Given the description of an element on the screen output the (x, y) to click on. 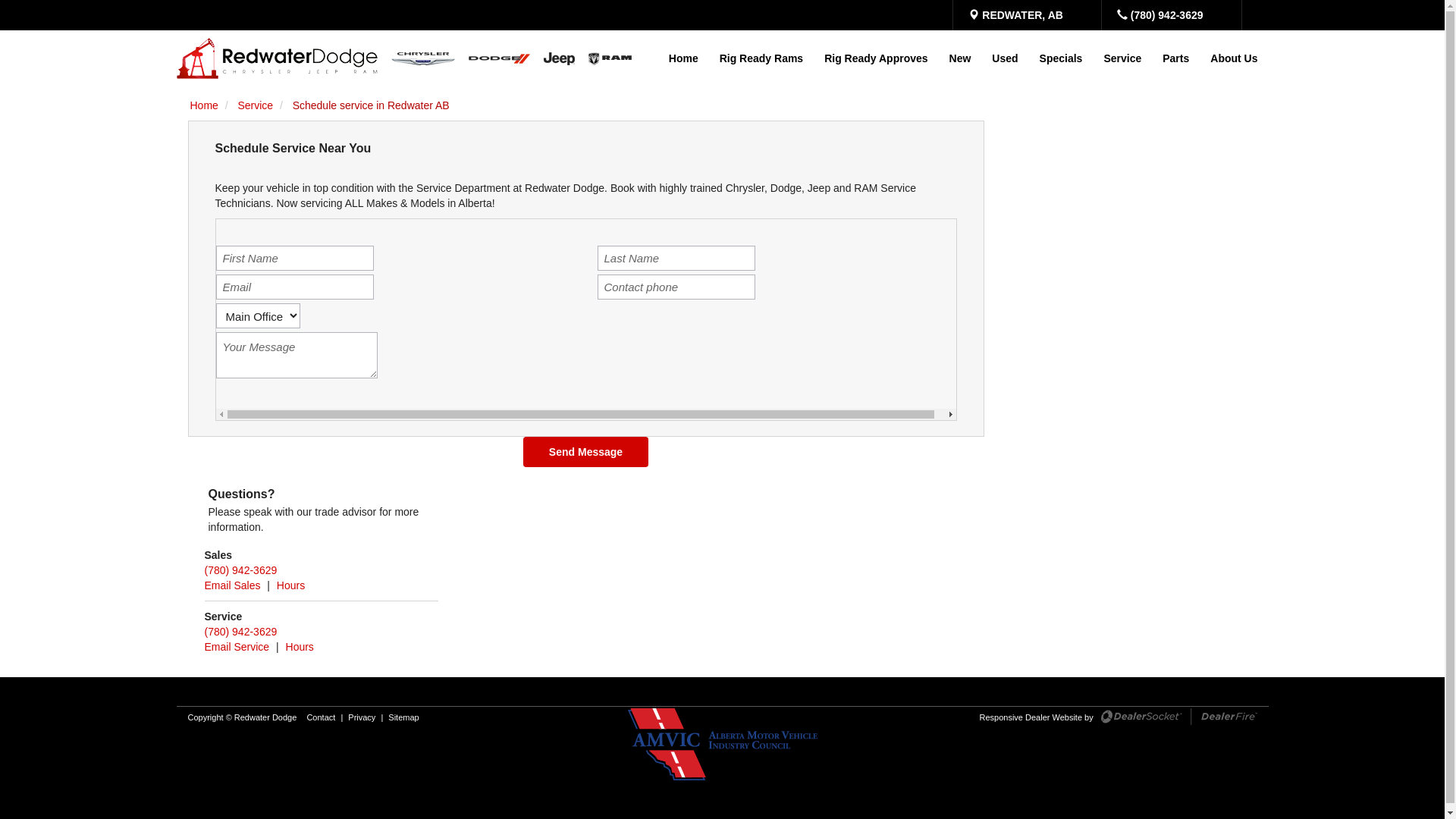
Jeep Logo Element type: hover (558, 57)
Redwater Dodge Logo Element type: hover (275, 57)
Specials Element type: text (1061, 58)
Home Element type: text (203, 105)
Chrysler Logo Element type: hover (423, 57)
Hours Element type: text (290, 585)
Home Element type: text (683, 58)
Parts Element type: text (1175, 58)
Send Message Element type: text (585, 451)
Dodge Logo Element type: hover (499, 57)
(780) 942-3629 Element type: text (240, 631)
Service Element type: text (1121, 58)
Responsive Dealer Websites by DealerFire Element type: hover (1179, 716)
(780) 942-3629 Element type: text (1160, 15)
About Us Element type: text (1233, 58)
Email Service Element type: text (236, 646)
Responsive Dealer Website by Element type: text (1035, 716)
Contact Element type: text (321, 716)
Privacy Element type: text (361, 716)
Rig Ready Approves Element type: text (875, 58)
New Element type: text (960, 58)
Ram Logo Element type: hover (609, 57)
Service Element type: text (255, 105)
REDWATER, AB Element type: text (1015, 15)
(780) 942-3629 Element type: text (240, 570)
Rig Ready Rams Element type: text (761, 58)
Sitemap Element type: text (403, 716)
Email Sales Element type: text (232, 585)
Hours Element type: text (299, 646)
Used Element type: text (1004, 58)
